Given the description of an element on the screen output the (x, y) to click on. 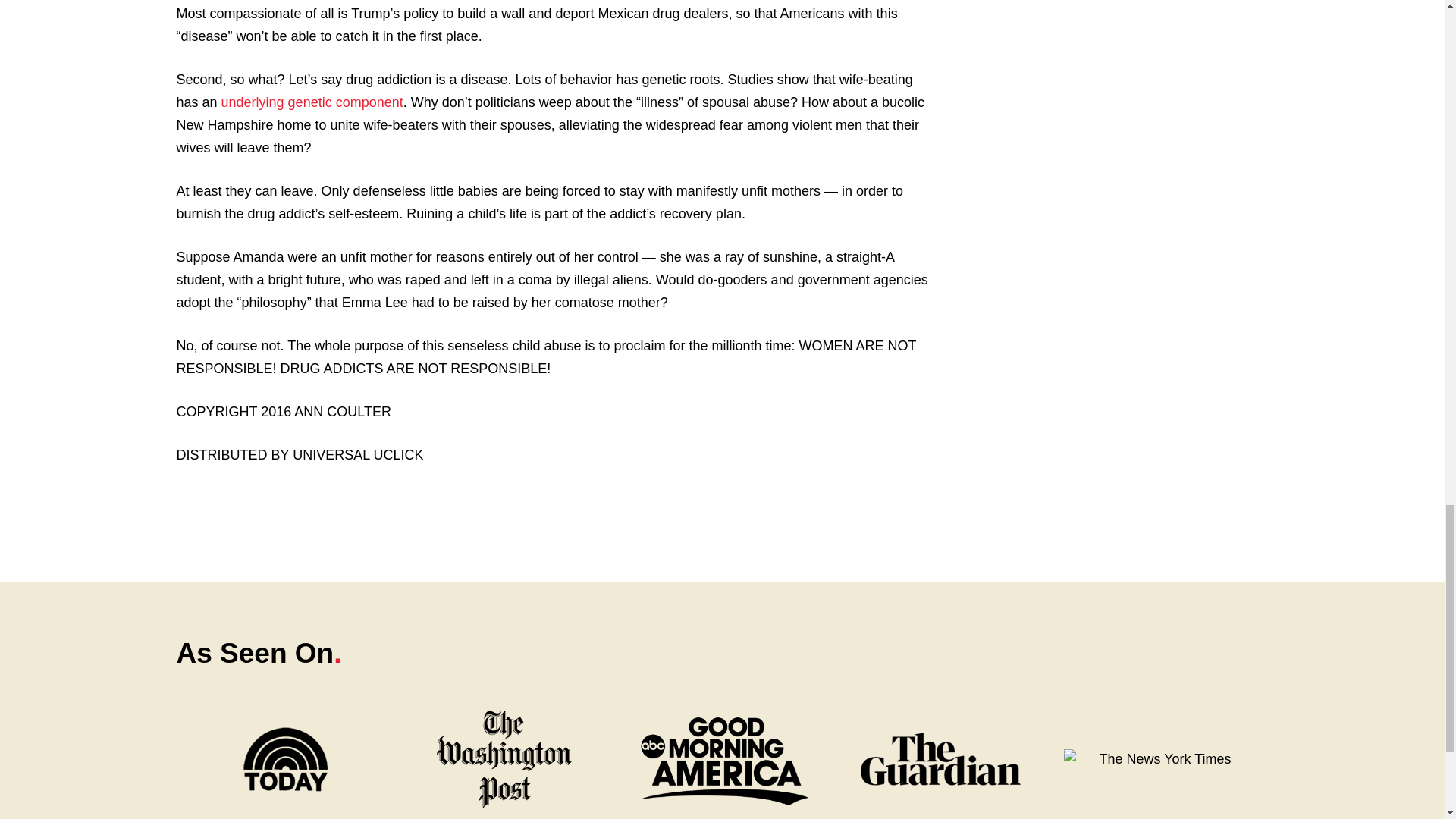
underlying genetic component (312, 102)
